Given the description of an element on the screen output the (x, y) to click on. 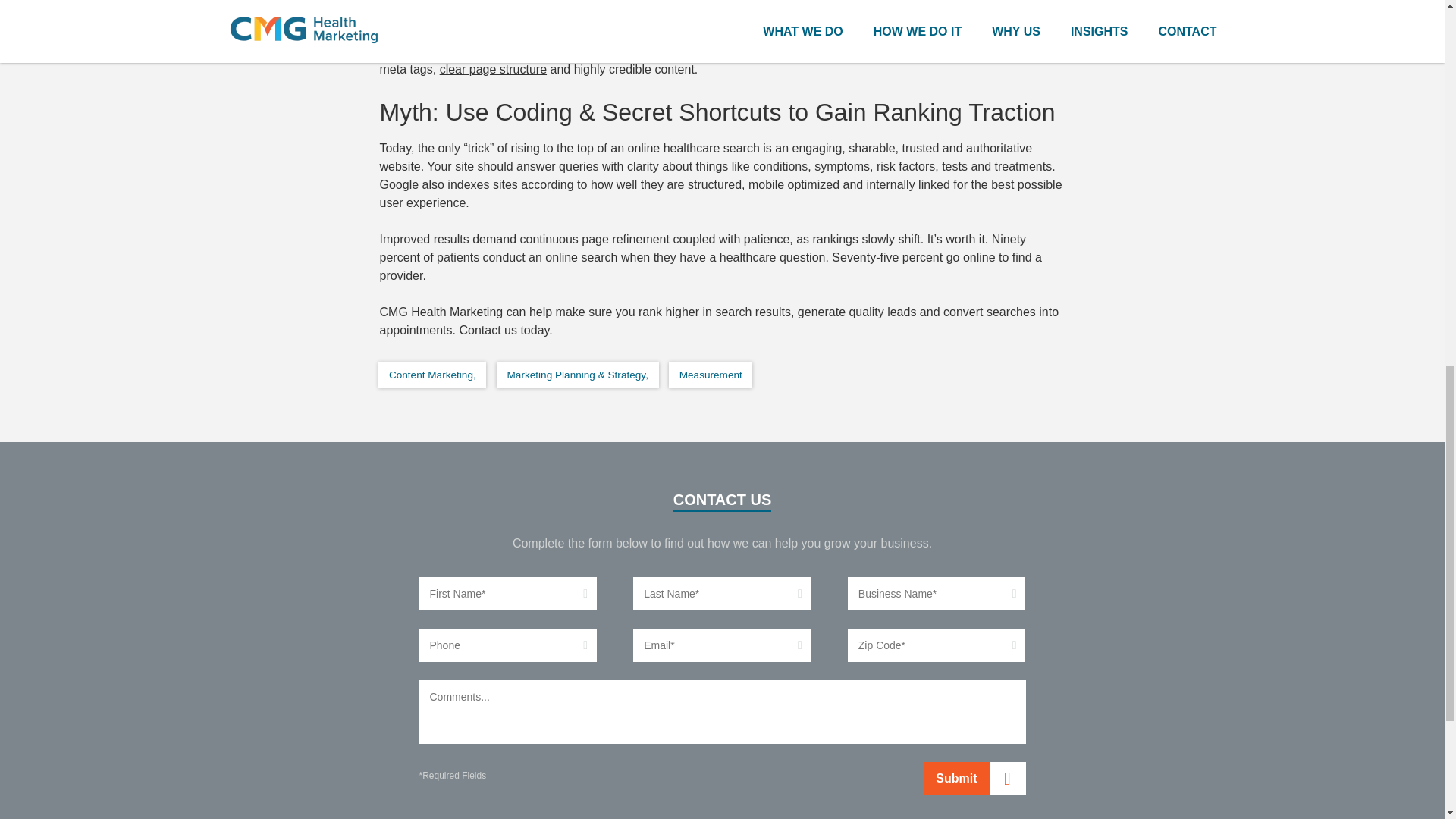
Submit (974, 778)
Measurement (710, 375)
Content Marketing, (432, 375)
clear page structure (493, 68)
